Given the description of an element on the screen output the (x, y) to click on. 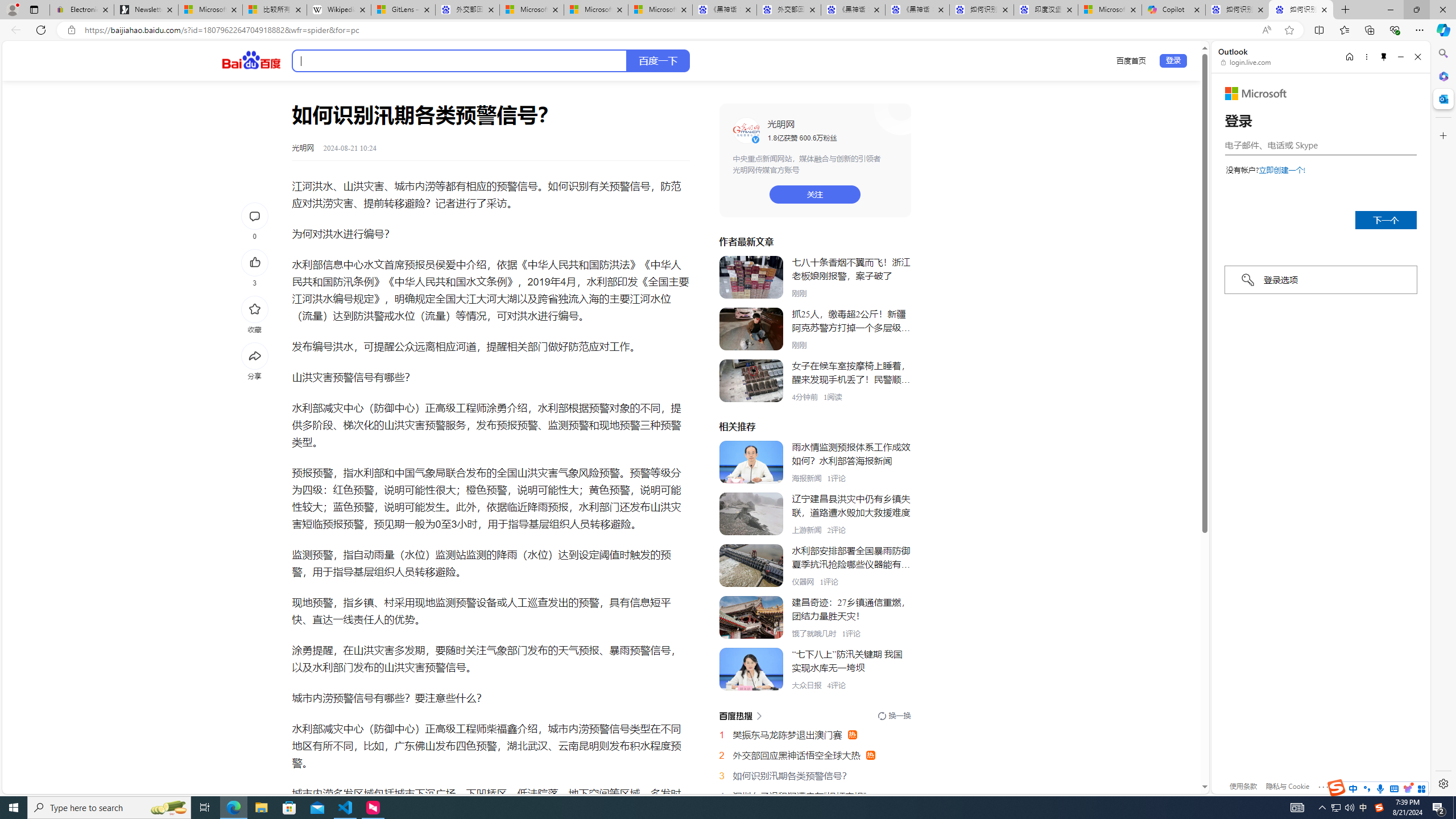
Class: YHR87 (740, 715)
